Given the description of an element on the screen output the (x, y) to click on. 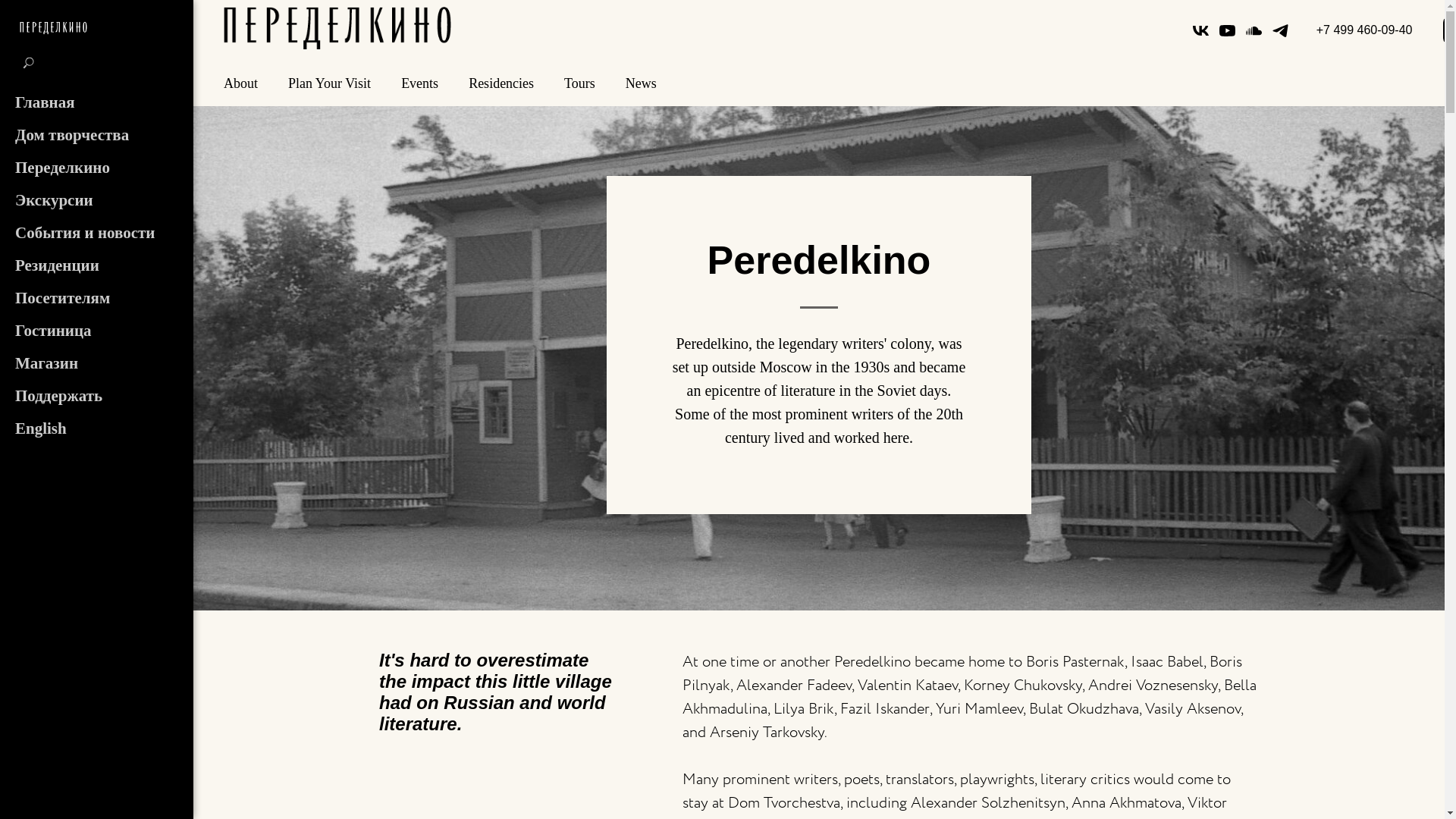
English (40, 428)
